Given the description of an element on the screen output the (x, y) to click on. 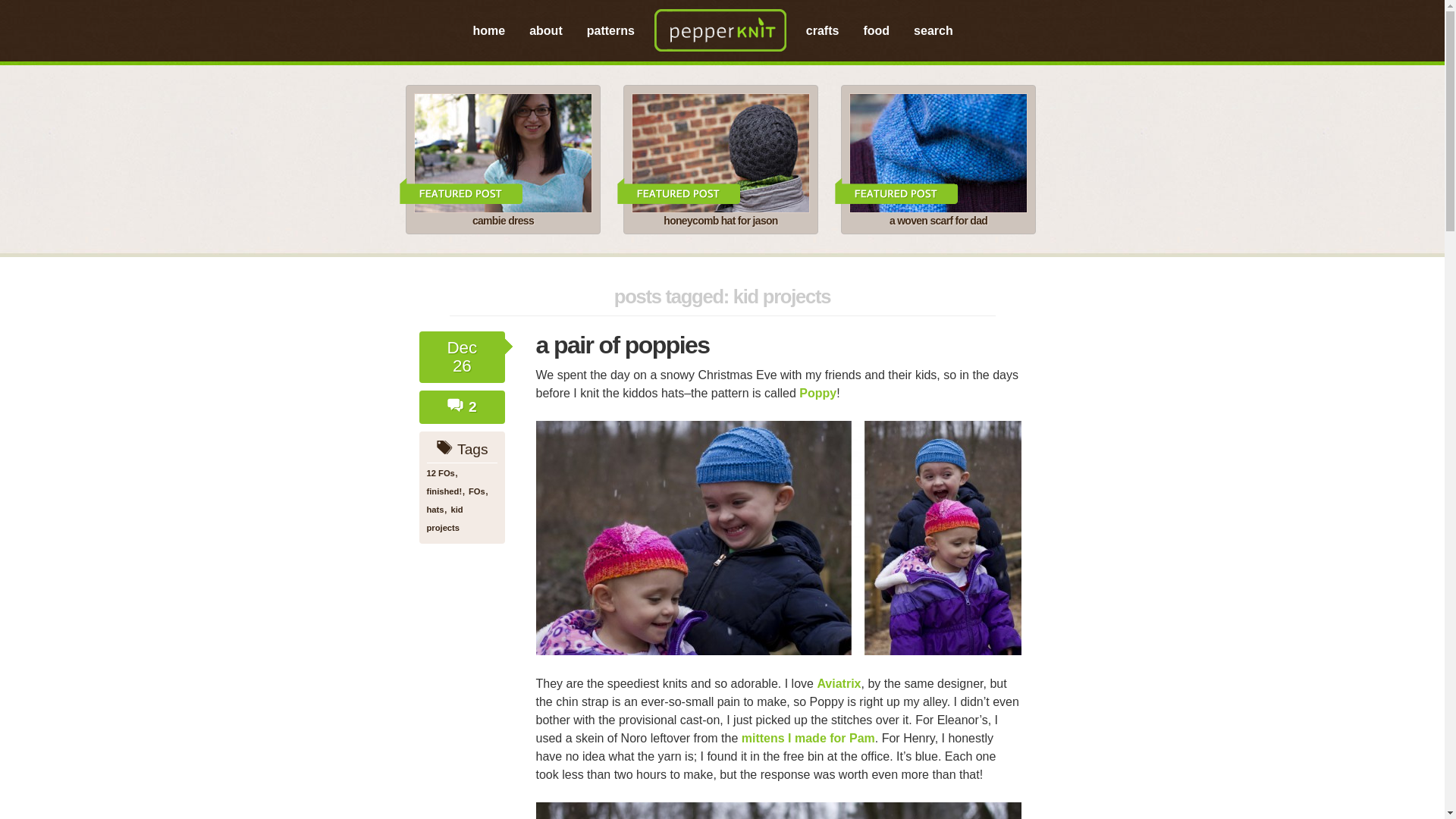
a pair of poppies (622, 344)
2 Comments (455, 404)
home (489, 30)
About Minty (545, 30)
2 (461, 407)
Home (489, 30)
cambie dress (467, 190)
about (545, 30)
patterns (610, 30)
Available Patterns  (610, 30)
Tags (443, 447)
kid projects (444, 518)
hats (435, 509)
12 FOs (440, 472)
FOs (476, 491)
